Given the description of an element on the screen output the (x, y) to click on. 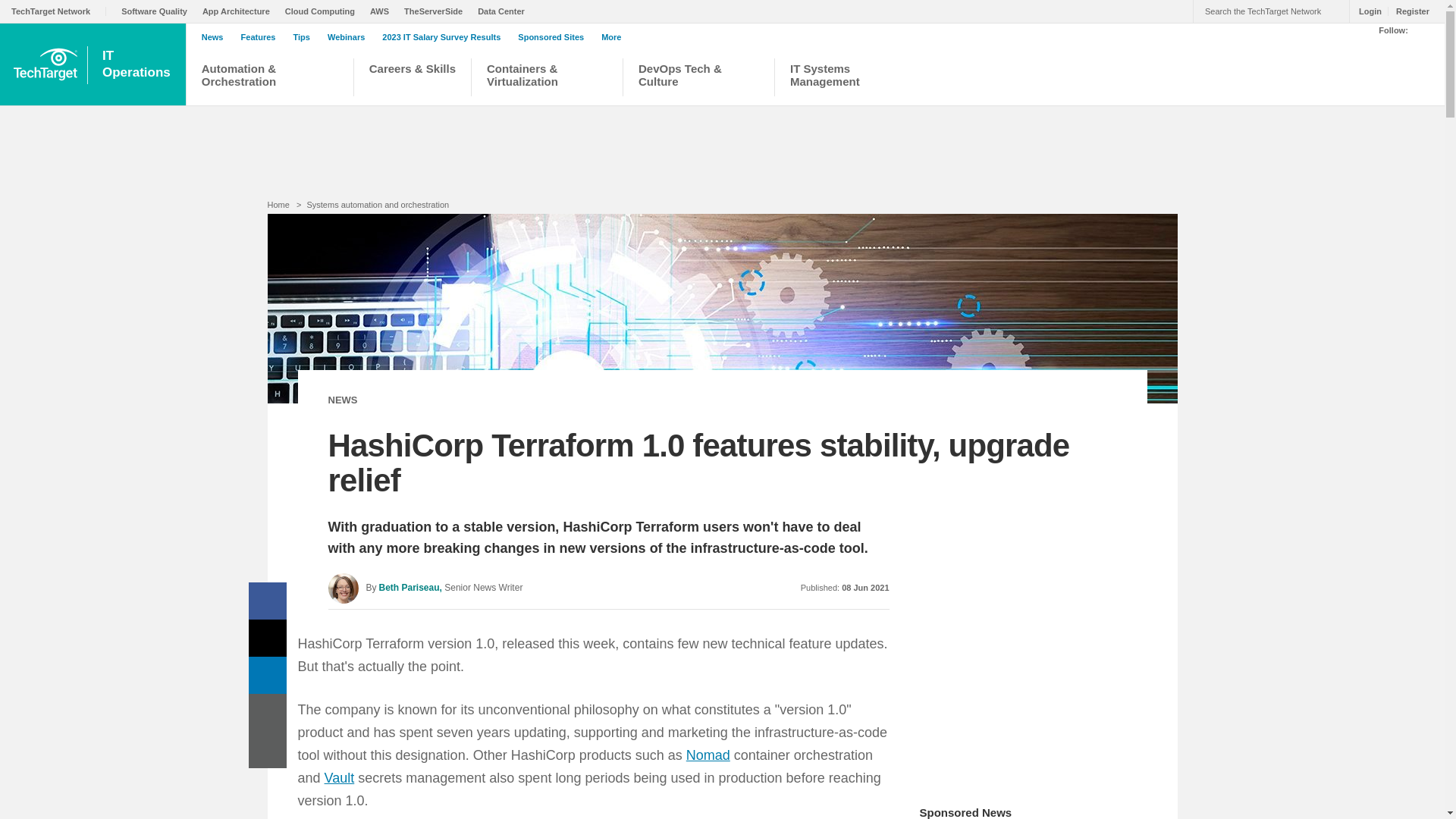
2023 IT Salary Survey Results (444, 36)
Login (1366, 10)
Webinars (349, 36)
App Architecture (240, 10)
Email a Friend (267, 749)
Data Center (504, 10)
AWS (382, 10)
TheServerSide (437, 10)
Sponsored Sites (554, 36)
TechTarget Network (58, 10)
Cloud Computing (138, 64)
Register (323, 10)
Print This Page (1408, 10)
Share on LinkedIn (267, 712)
